Given the description of an element on the screen output the (x, y) to click on. 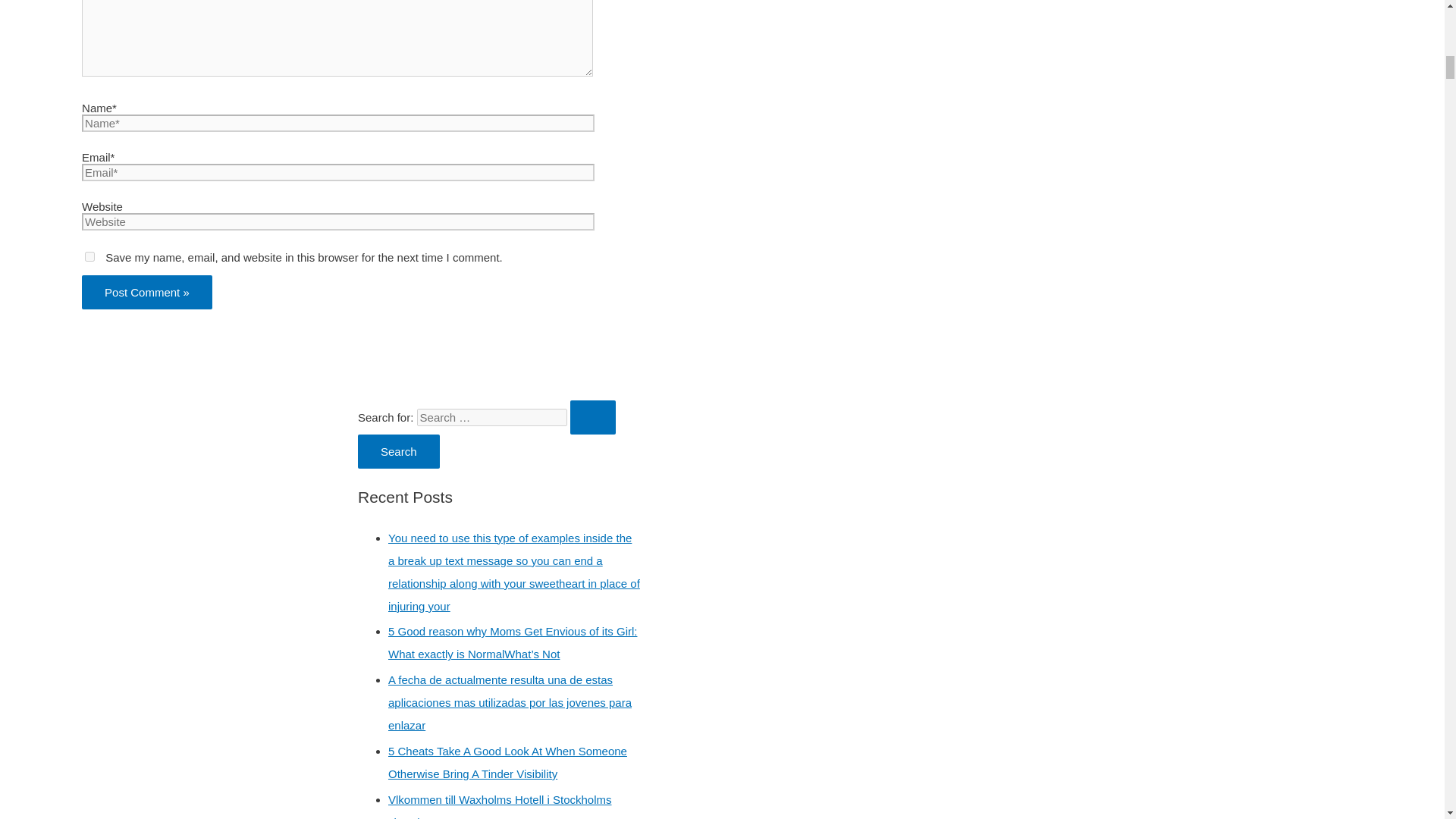
yes (89, 256)
Search (398, 451)
Search (398, 451)
Vlkommen till Waxholms Hotell i Stockholms skrgrd (499, 806)
Search (398, 451)
